Given the description of an element on the screen output the (x, y) to click on. 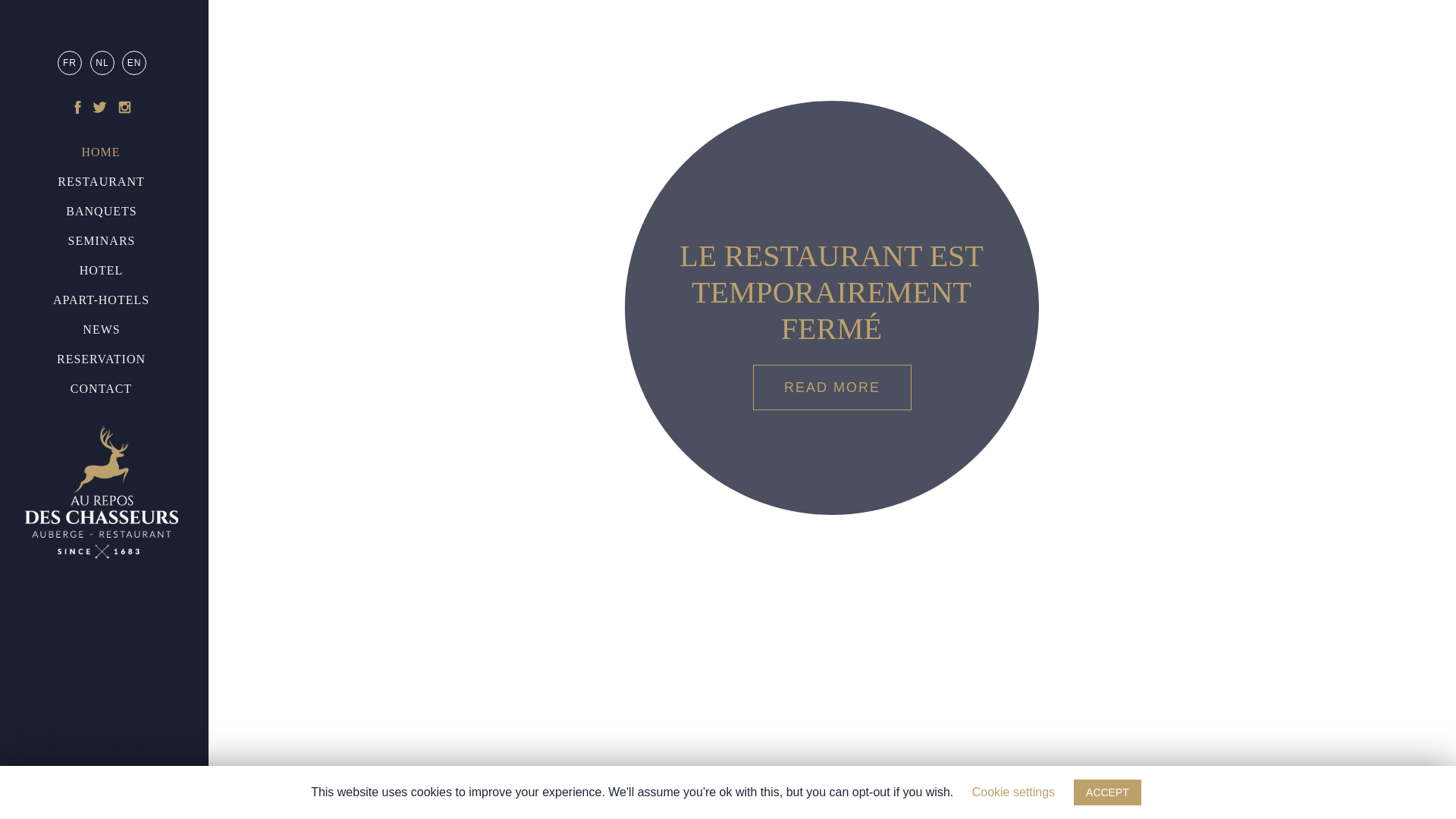
RESTAURANT Element type: text (101, 181)
ACCEPT Element type: text (1107, 792)
Cookie settings Element type: text (1013, 791)
RESERVATION Element type: text (101, 359)
BANQUETS Element type: text (101, 211)
NL Element type: text (102, 62)
HOME Element type: text (100, 152)
READ MORE Element type: text (832, 387)
NEWS Element type: text (101, 329)
SEMINARS Element type: text (101, 241)
CONTACT Element type: text (101, 388)
EN Element type: text (134, 62)
APART-HOTELS Element type: text (101, 300)
HOTEL Element type: text (101, 270)
FR Element type: text (69, 62)
